Given the description of an element on the screen output the (x, y) to click on. 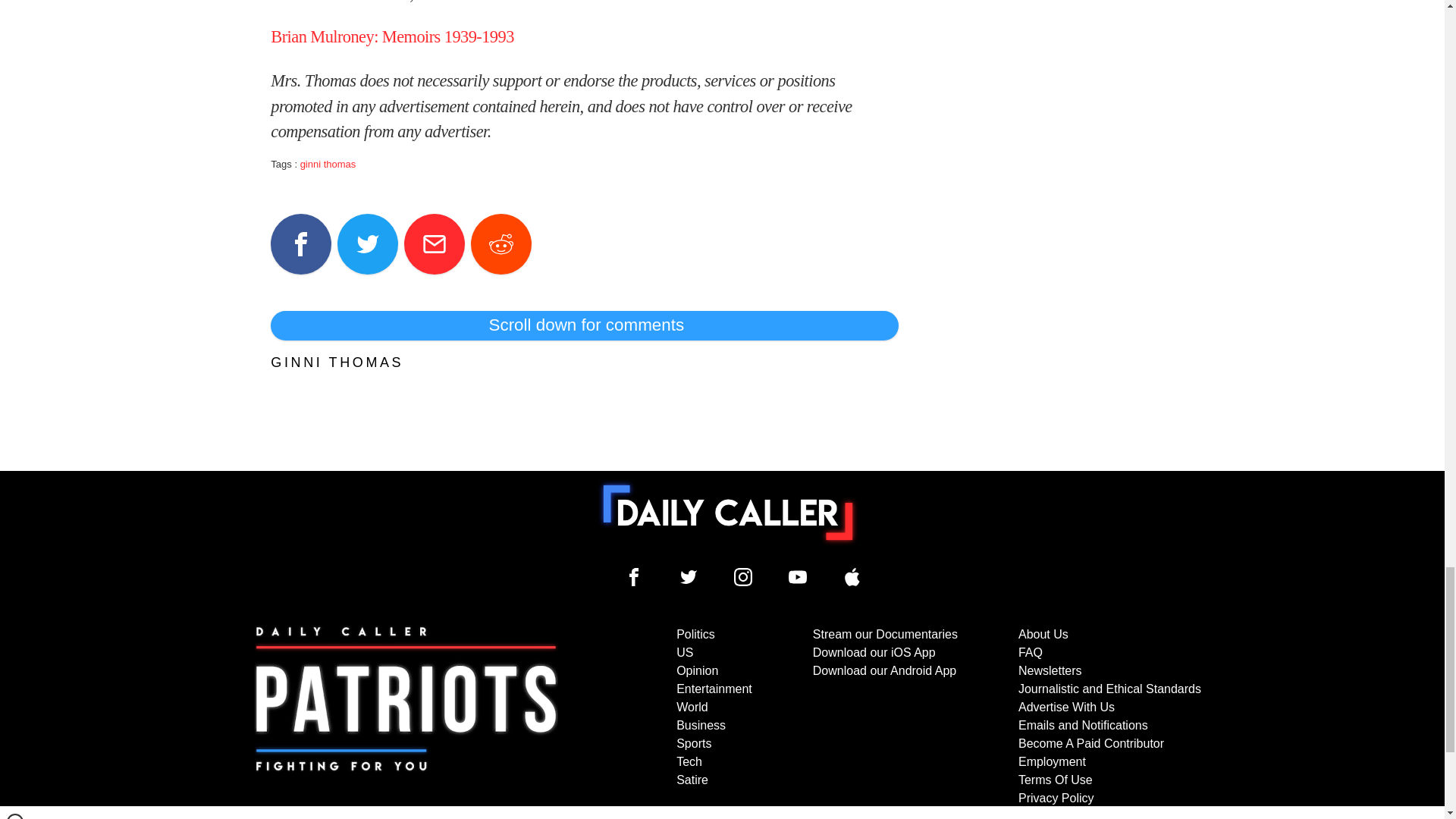
Daily Caller YouTube (852, 577)
Scroll down for comments (584, 325)
Daily Caller Twitter (688, 577)
To home page (727, 511)
Daily Caller Facebook (633, 577)
Daily Caller Instagram (742, 577)
Daily Caller YouTube (797, 577)
Subscribe to The Daily Caller (405, 722)
